Given the description of an element on the screen output the (x, y) to click on. 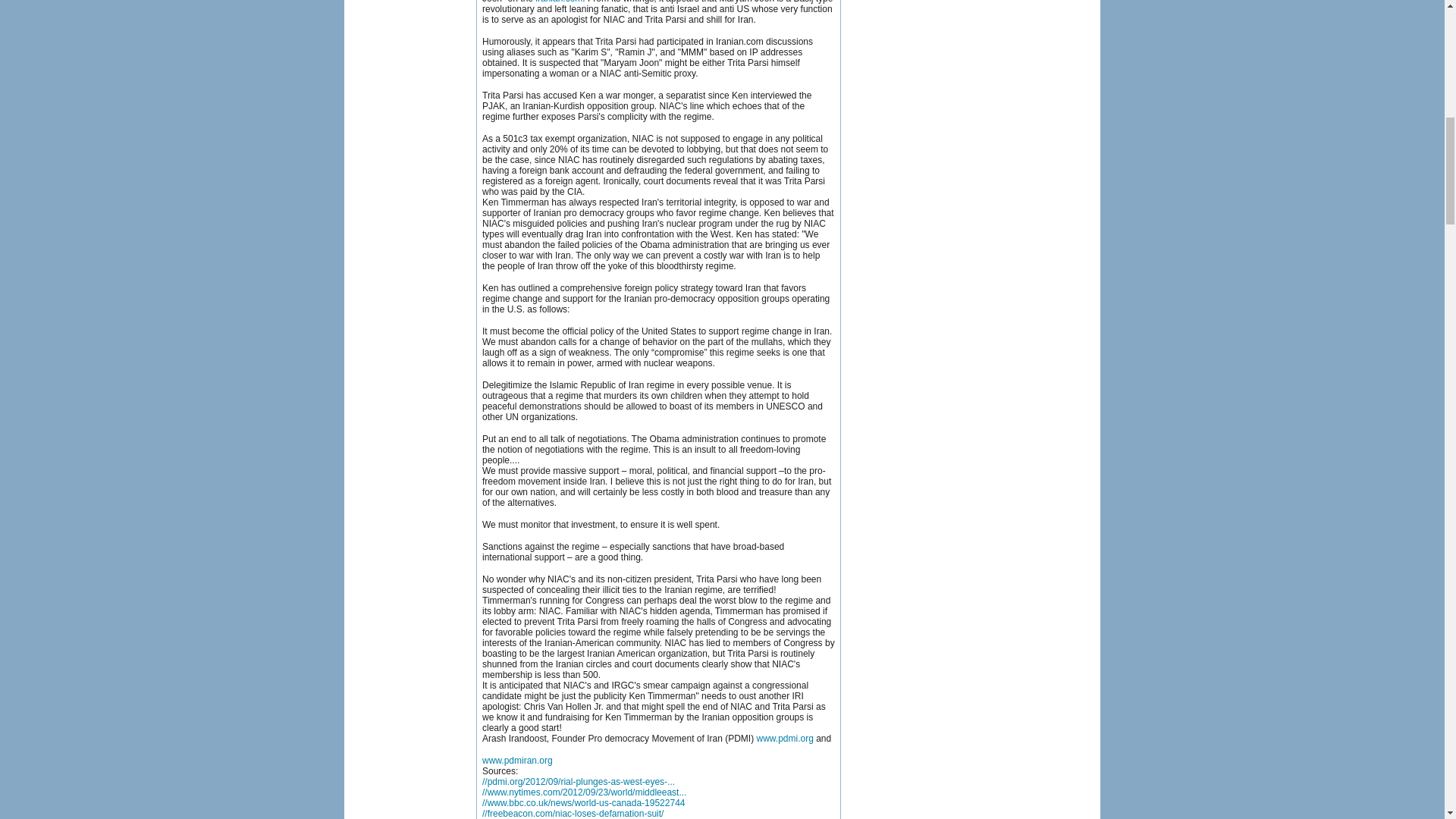
www.pdmiran.org (517, 760)
www.pdmi.org (783, 738)
iranian.com (558, 2)
